Given the description of an element on the screen output the (x, y) to click on. 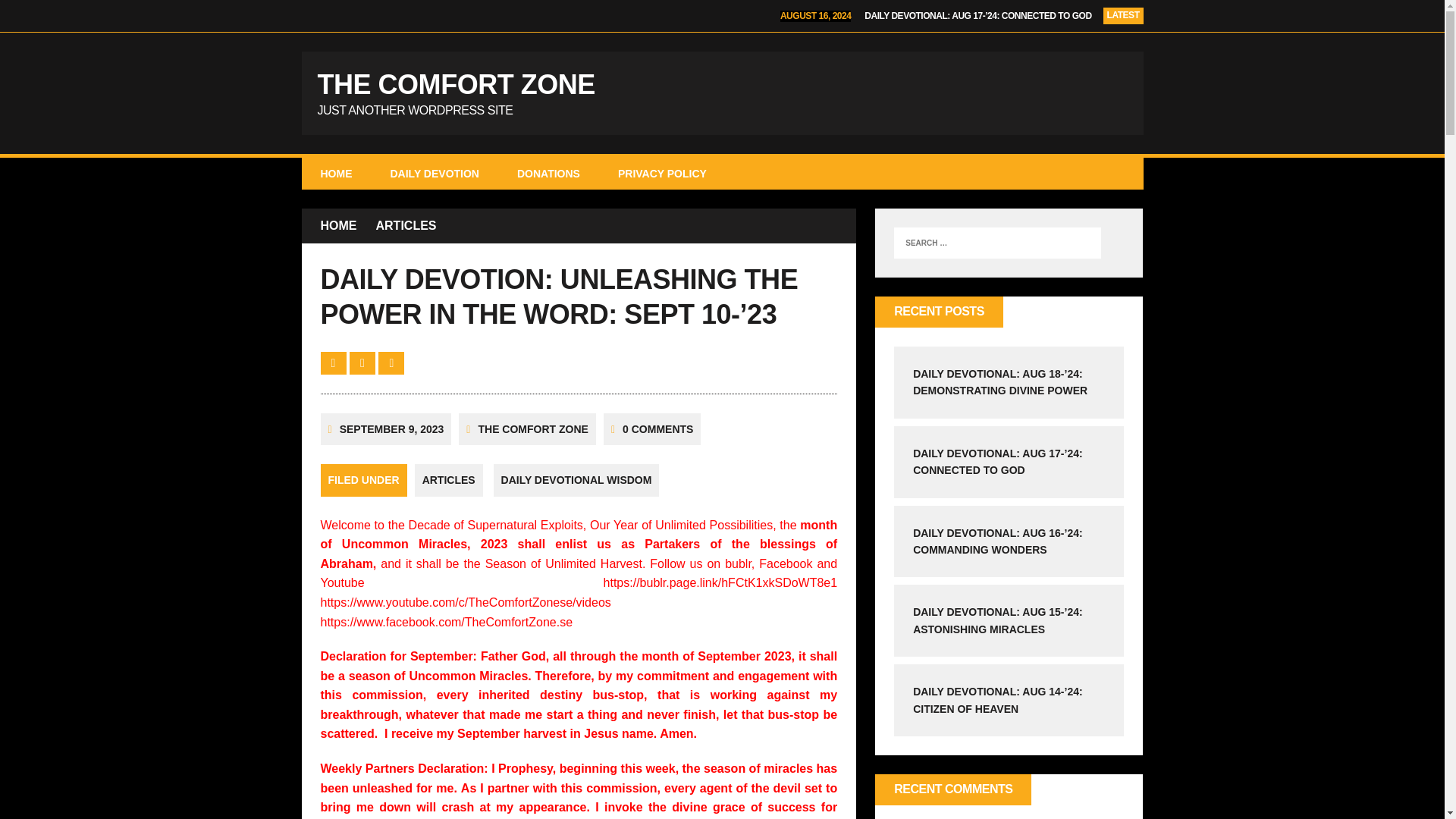
DONATIONS (547, 173)
DAILY DEVOTION (434, 173)
ARTICLES (448, 480)
SEPTEMBER 9, 2023 (391, 428)
HOME (338, 225)
HOME (336, 173)
Search (23, 11)
ARTICLES (405, 225)
PRIVACY POLICY (721, 93)
